Given the description of an element on the screen output the (x, y) to click on. 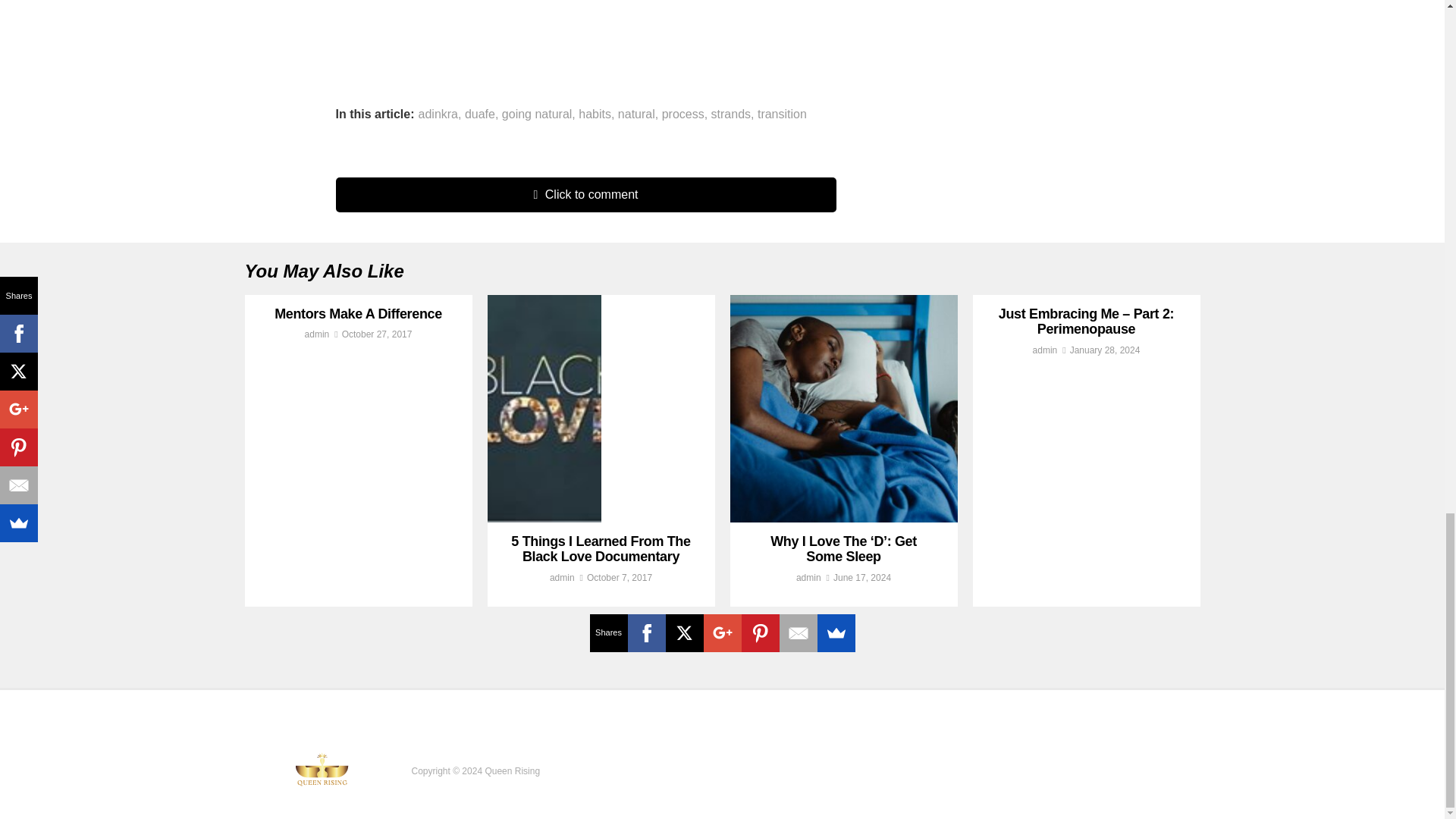
Posts by admin (317, 334)
Email (797, 632)
X (684, 632)
Posts by admin (808, 577)
Posts by admin (562, 577)
Pinterest (759, 632)
Posts by admin (1045, 349)
SumoMe (836, 632)
Facebook (646, 632)
